Given the description of an element on the screen output the (x, y) to click on. 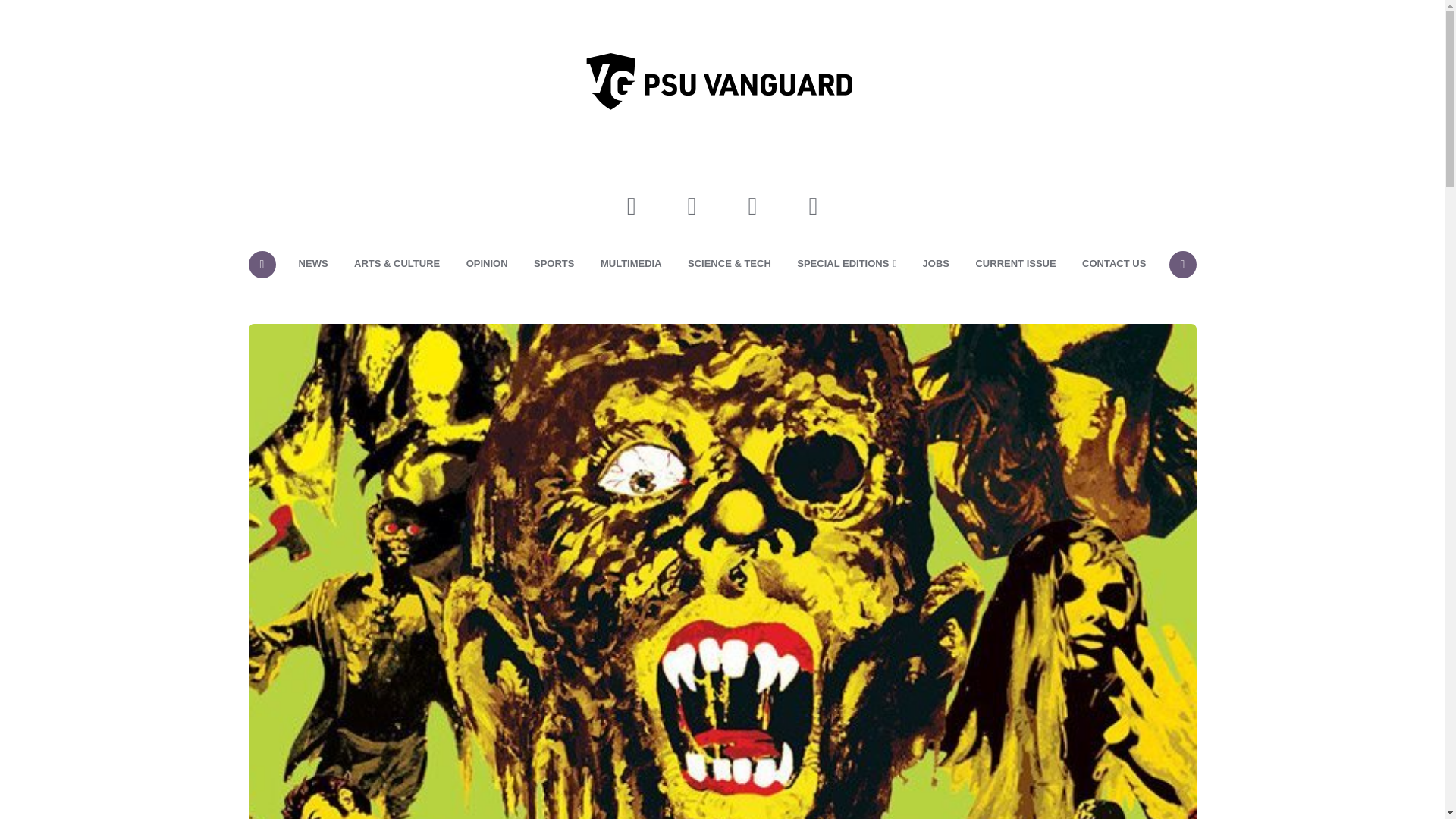
SPECIAL EDITIONS (846, 263)
CONTACT US (1113, 263)
MULTIMEDIA (630, 263)
JOBS (935, 263)
Opinion (486, 263)
SPORTS (553, 263)
CURRENT ISSUE (1015, 263)
Multimedia (630, 263)
OPINION (486, 263)
NEWS (312, 263)
